Given the description of an element on the screen output the (x, y) to click on. 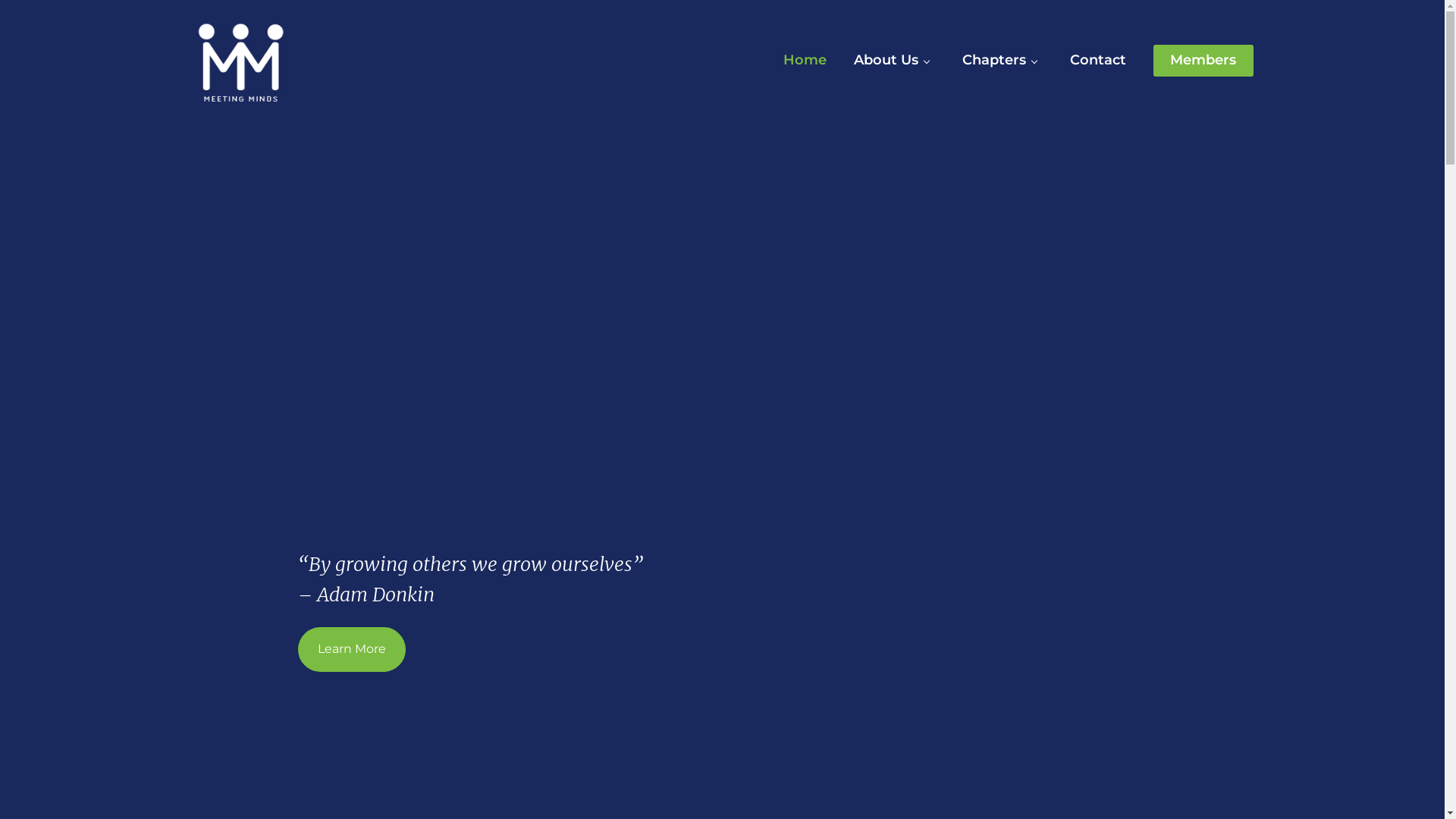
Contact Element type: text (1097, 60)
About Us Element type: text (885, 60)
Chapters Element type: text (993, 60)
Members Element type: text (1202, 60)
Home Element type: text (803, 60)
Learn More Element type: text (350, 649)
